Given the description of an element on the screen output the (x, y) to click on. 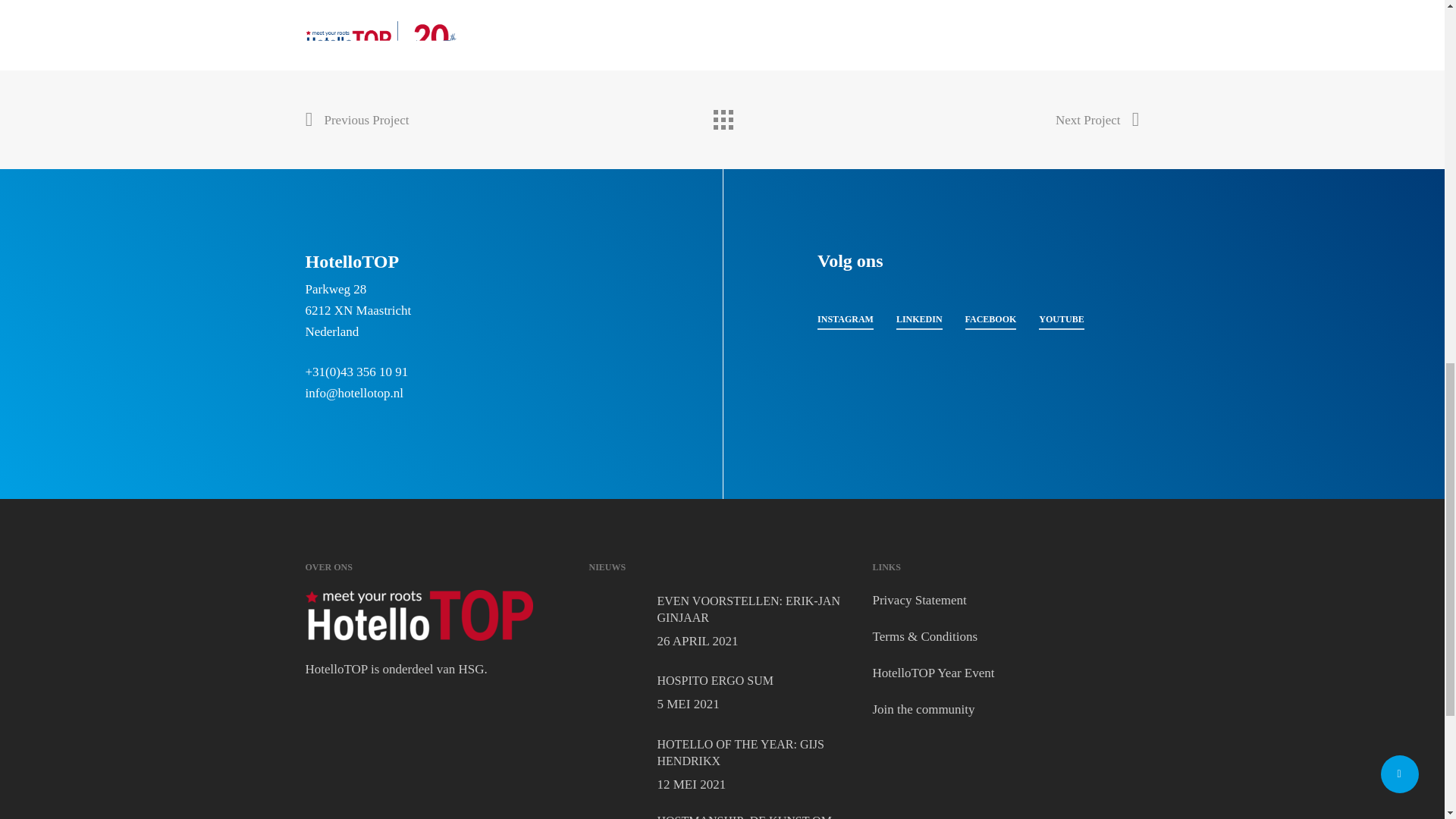
Join the community (722, 816)
FACEBOOK (923, 708)
Next Project (722, 621)
Privacy Statement (990, 319)
LINKEDIN (1096, 120)
YOUTUBE (722, 765)
Back to all projects (919, 599)
